Given the description of an element on the screen output the (x, y) to click on. 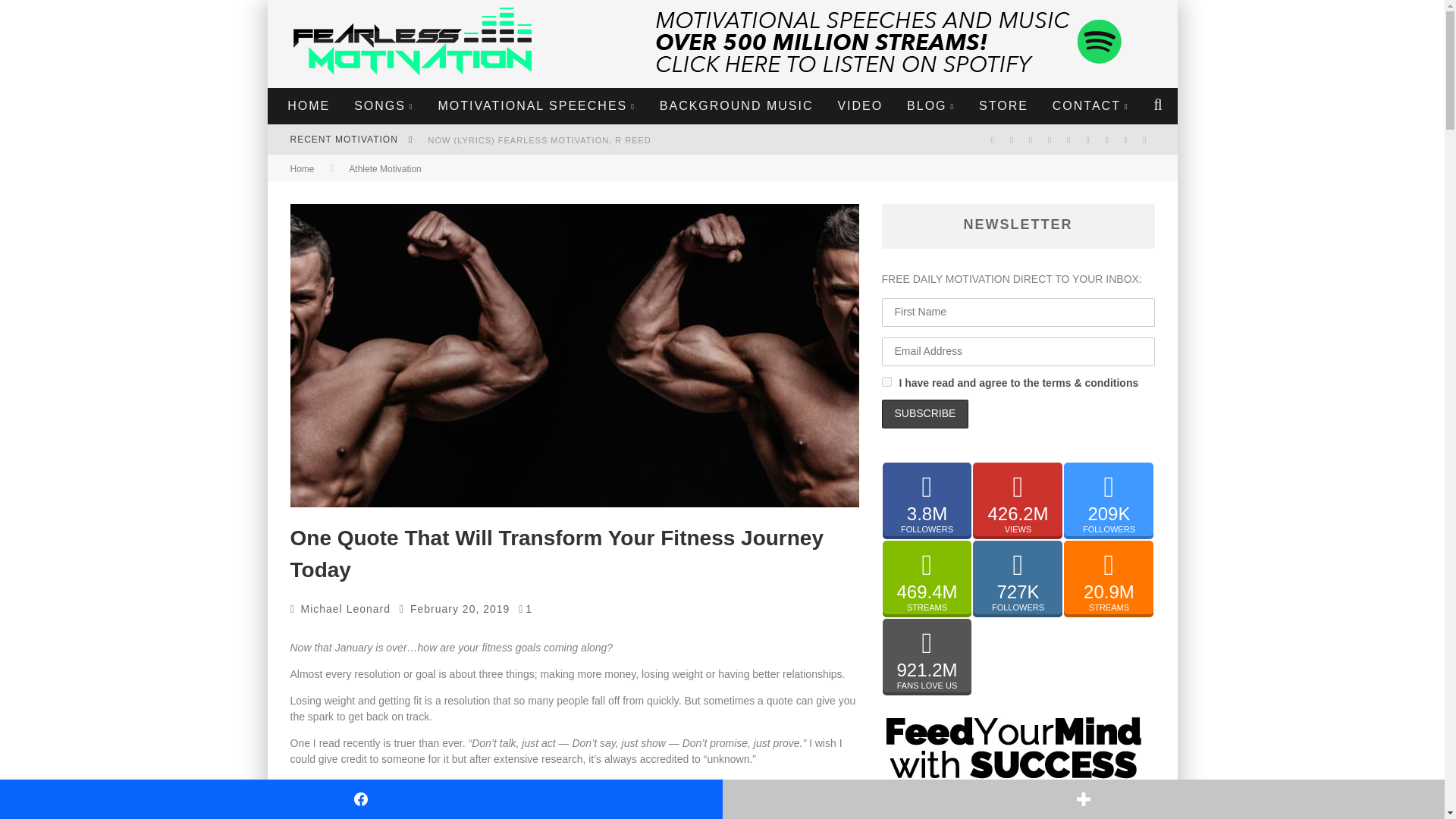
View all posts in Athlete Motivation (384, 168)
1 (885, 381)
SUBSCRIBE (924, 413)
Search (1158, 106)
